Given the description of an element on the screen output the (x, y) to click on. 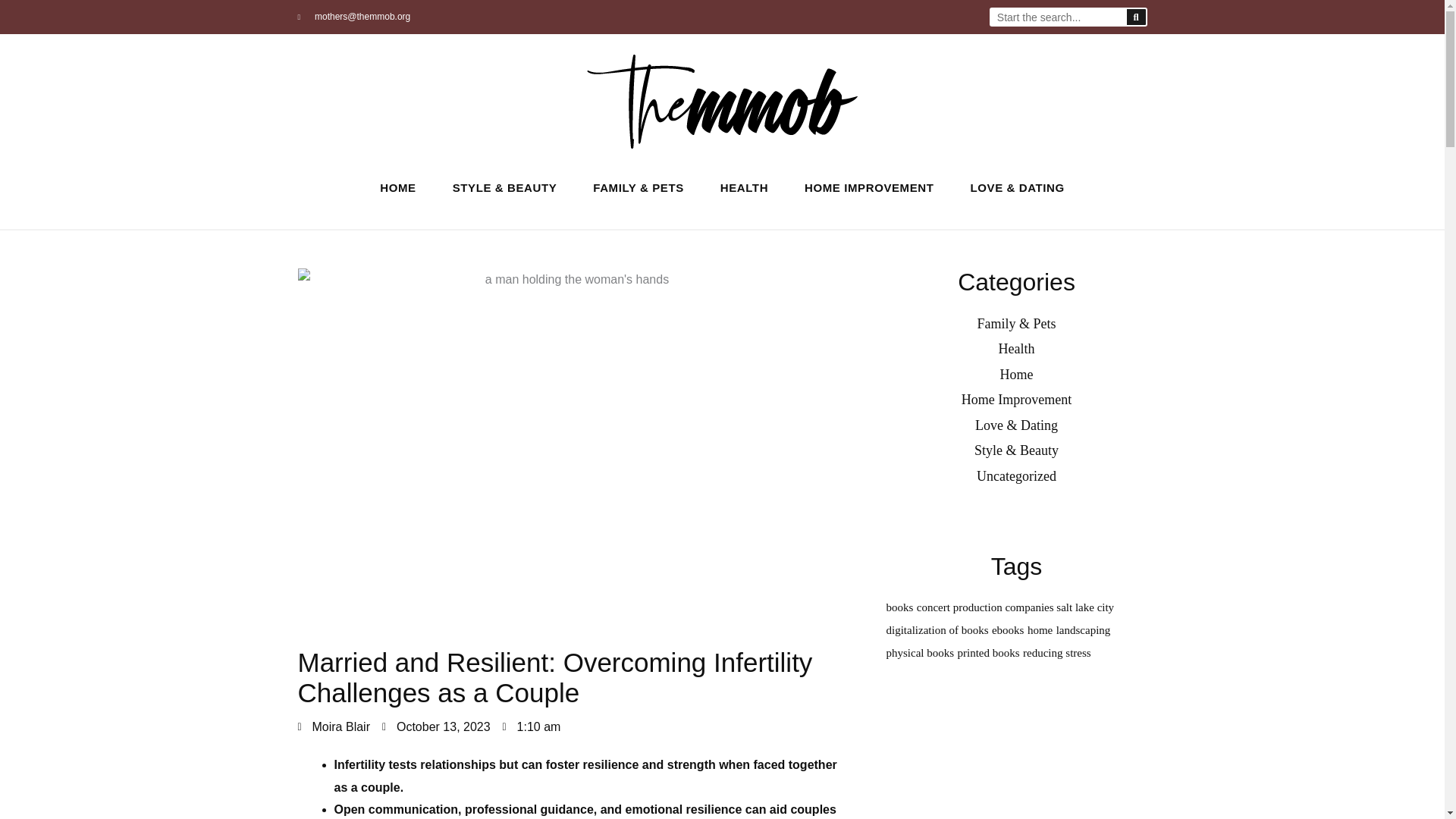
reducing stress (1056, 653)
printed books (989, 653)
concert production companies salt lake city (1015, 607)
landscaping (1083, 630)
HOME IMPROVEMENT (869, 188)
HEALTH (743, 188)
digitalization of books (936, 630)
Home Improvement (1015, 399)
home (1039, 630)
Moira Blair (333, 726)
ebooks (1008, 630)
books (898, 607)
physical books (919, 653)
Home (1015, 374)
Health (1015, 348)
